Given the description of an element on the screen output the (x, y) to click on. 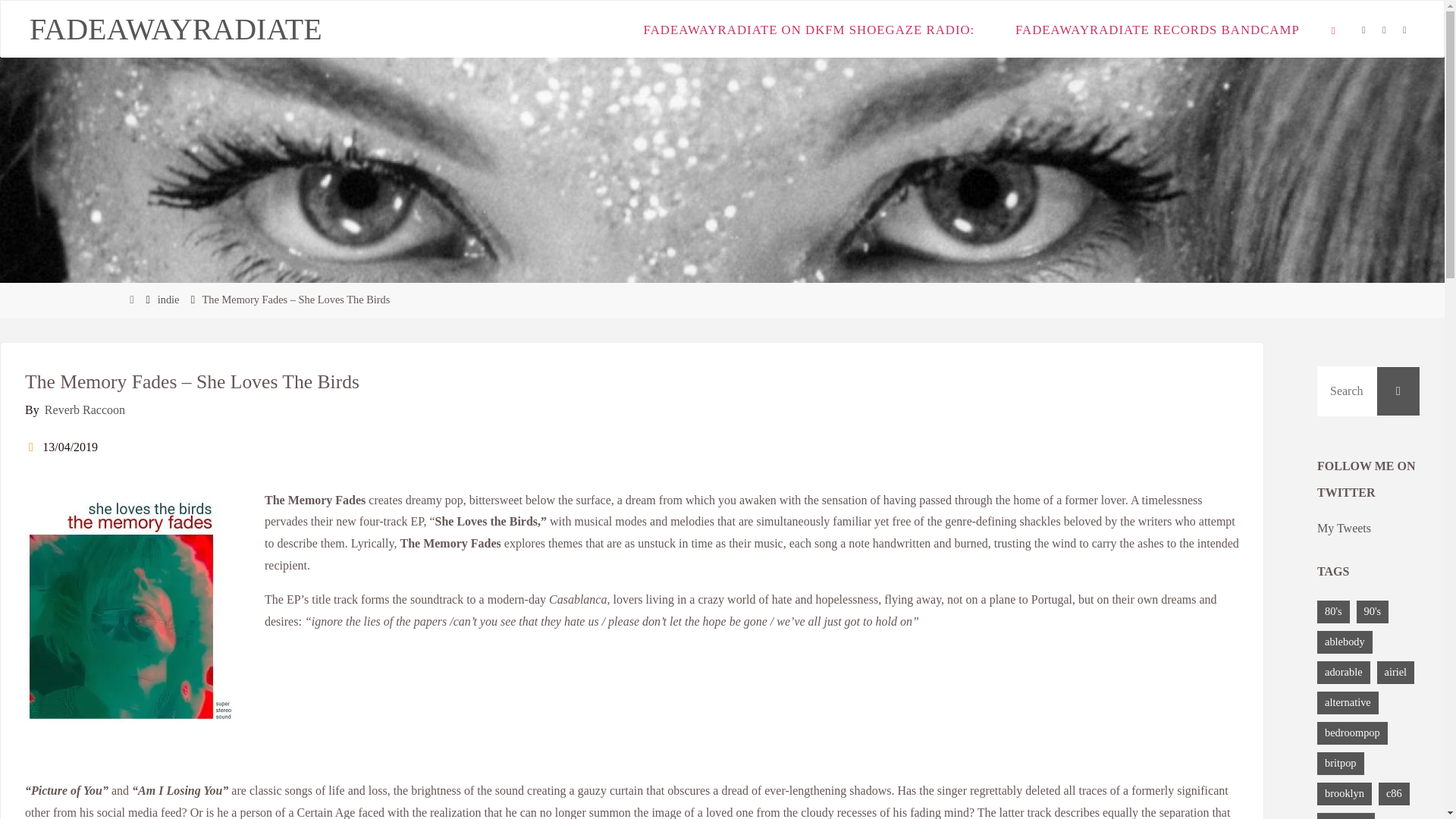
View all posts by Reverb Raccoon (83, 409)
indie (168, 299)
FADEAWAYRADIATE RECORDS BANDCAMP (1156, 28)
80's (1333, 611)
FADEAWAYRADIATE ON DKFM SHOEGAZE RADIO: (808, 28)
Date (31, 446)
FADEAWAYRADIATE (175, 28)
90's (1372, 611)
Reverb Raccoon (83, 409)
Indiependent Blog (175, 28)
